Given the description of an element on the screen output the (x, y) to click on. 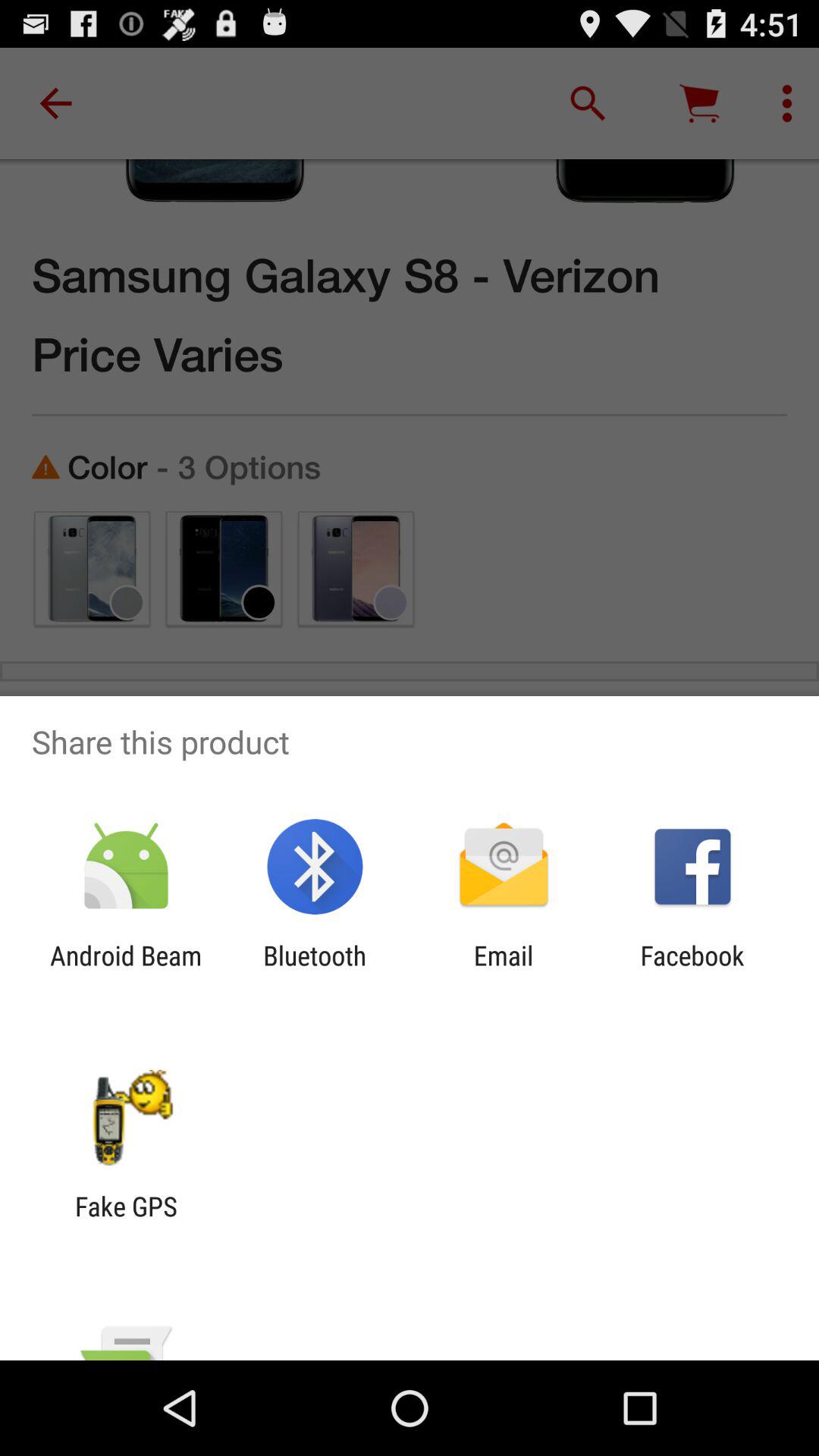
open the icon next to bluetooth item (503, 971)
